Given the description of an element on the screen output the (x, y) to click on. 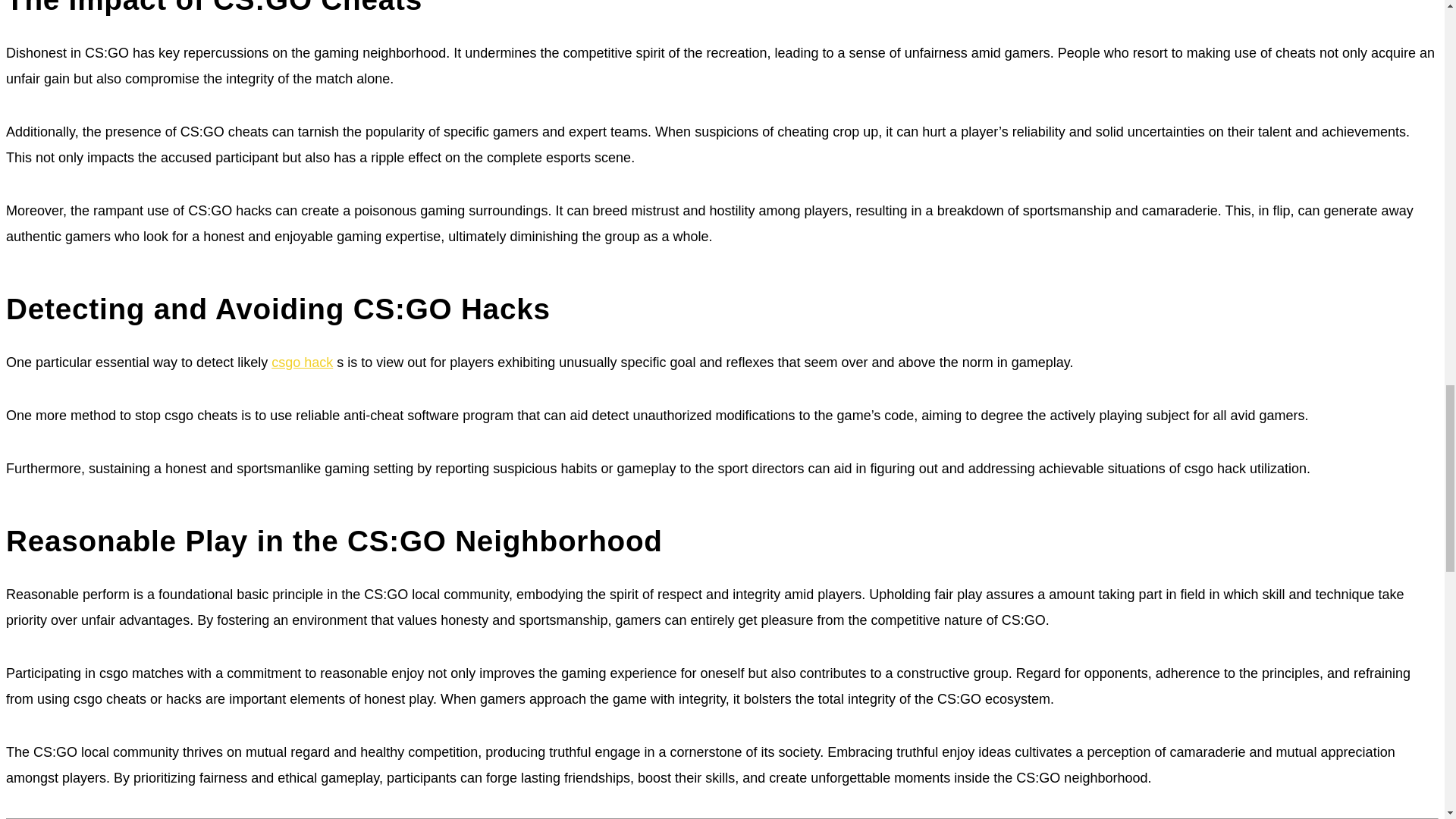
csgo hack (301, 362)
